Given the description of an element on the screen output the (x, y) to click on. 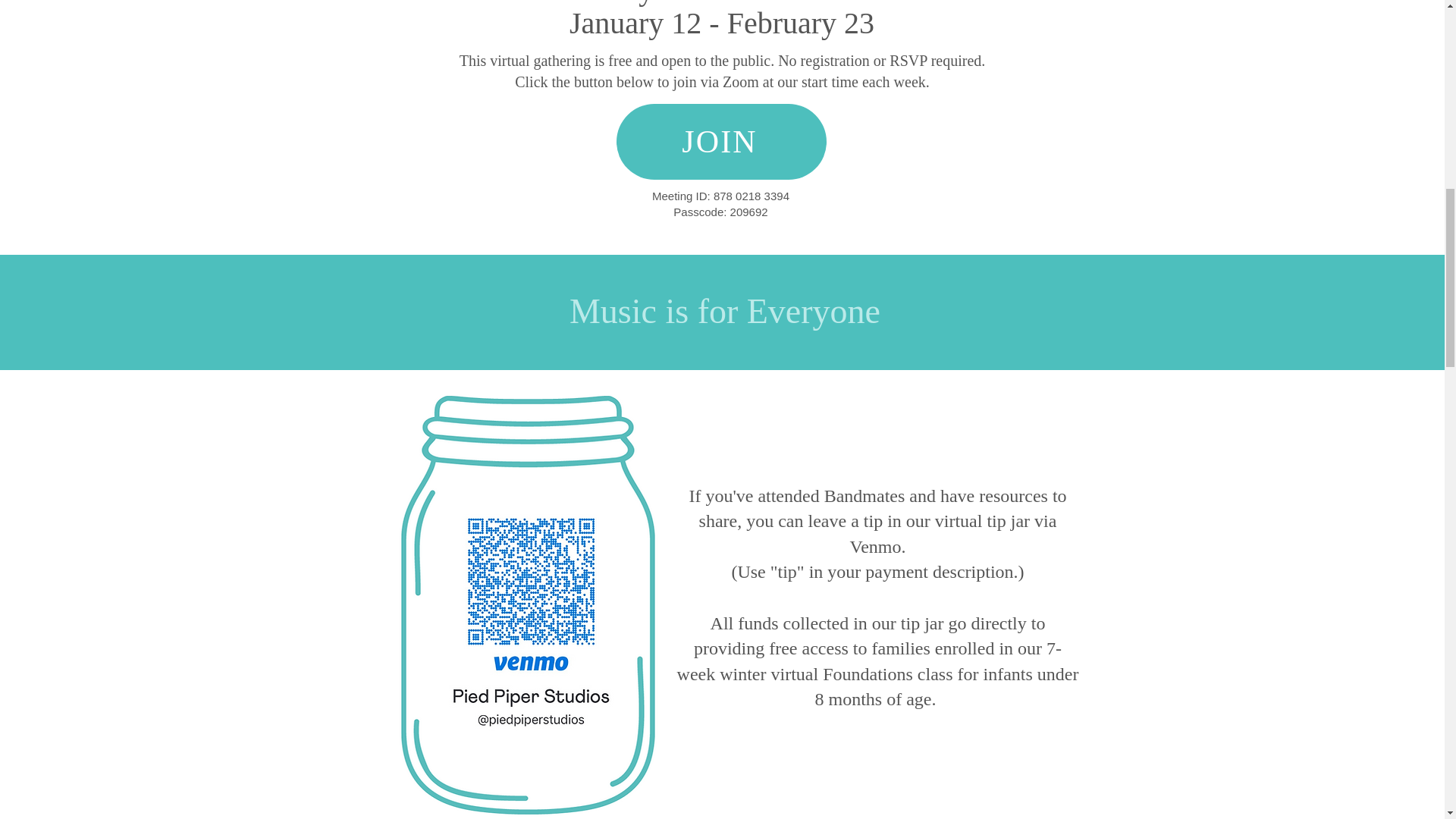
JOIN (720, 141)
